Given the description of an element on the screen output the (x, y) to click on. 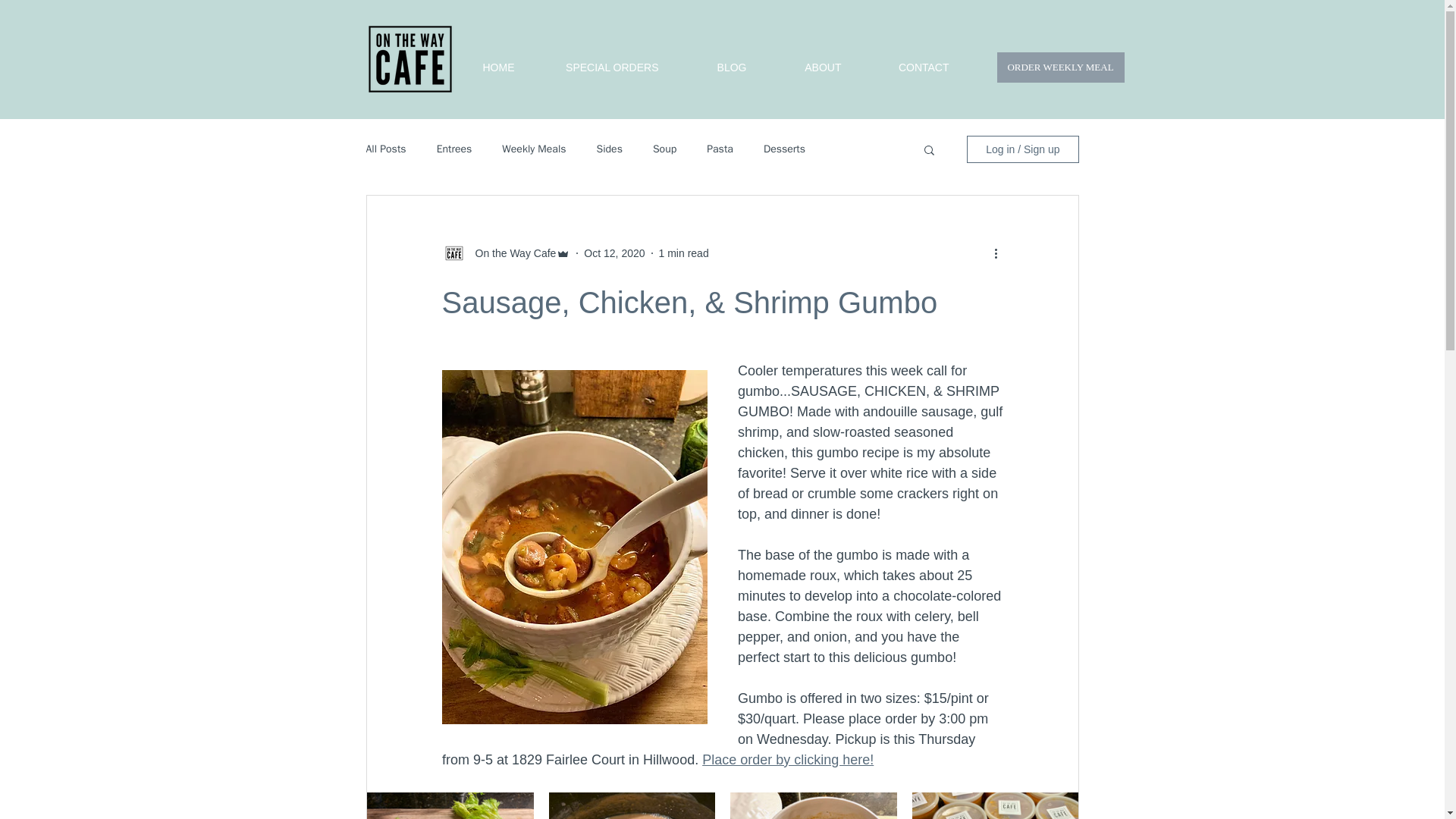
Desserts (783, 149)
Oct 12, 2020 (614, 253)
ABOUT (805, 67)
All Posts (385, 149)
Weekly Meals (534, 149)
On the Way Cafe (510, 253)
CONTACT (905, 67)
HOME (480, 67)
1 min read (684, 253)
BLOG (713, 67)
